Given the description of an element on the screen output the (x, y) to click on. 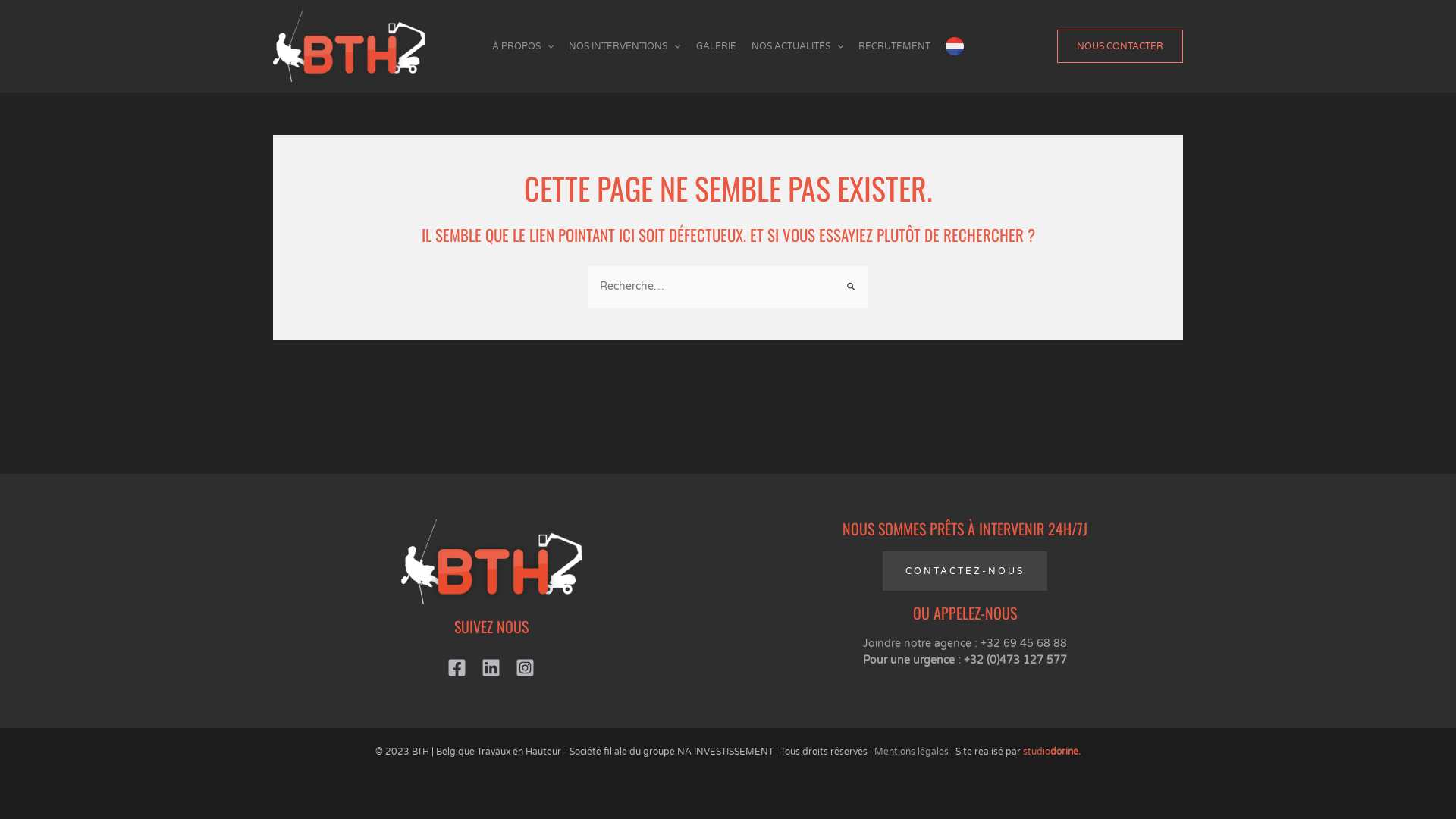
RECRUTEMENT Element type: text (894, 46)
NOS INTERVENTIONS Element type: text (624, 46)
Rechercher Element type: text (851, 279)
CONTACTEZ-NOUS Element type: text (964, 570)
NOUS CONTACTER Element type: text (1120, 45)
studiodorine. Element type: text (1051, 751)
GALERIE Element type: text (715, 46)
